Given the description of an element on the screen output the (x, y) to click on. 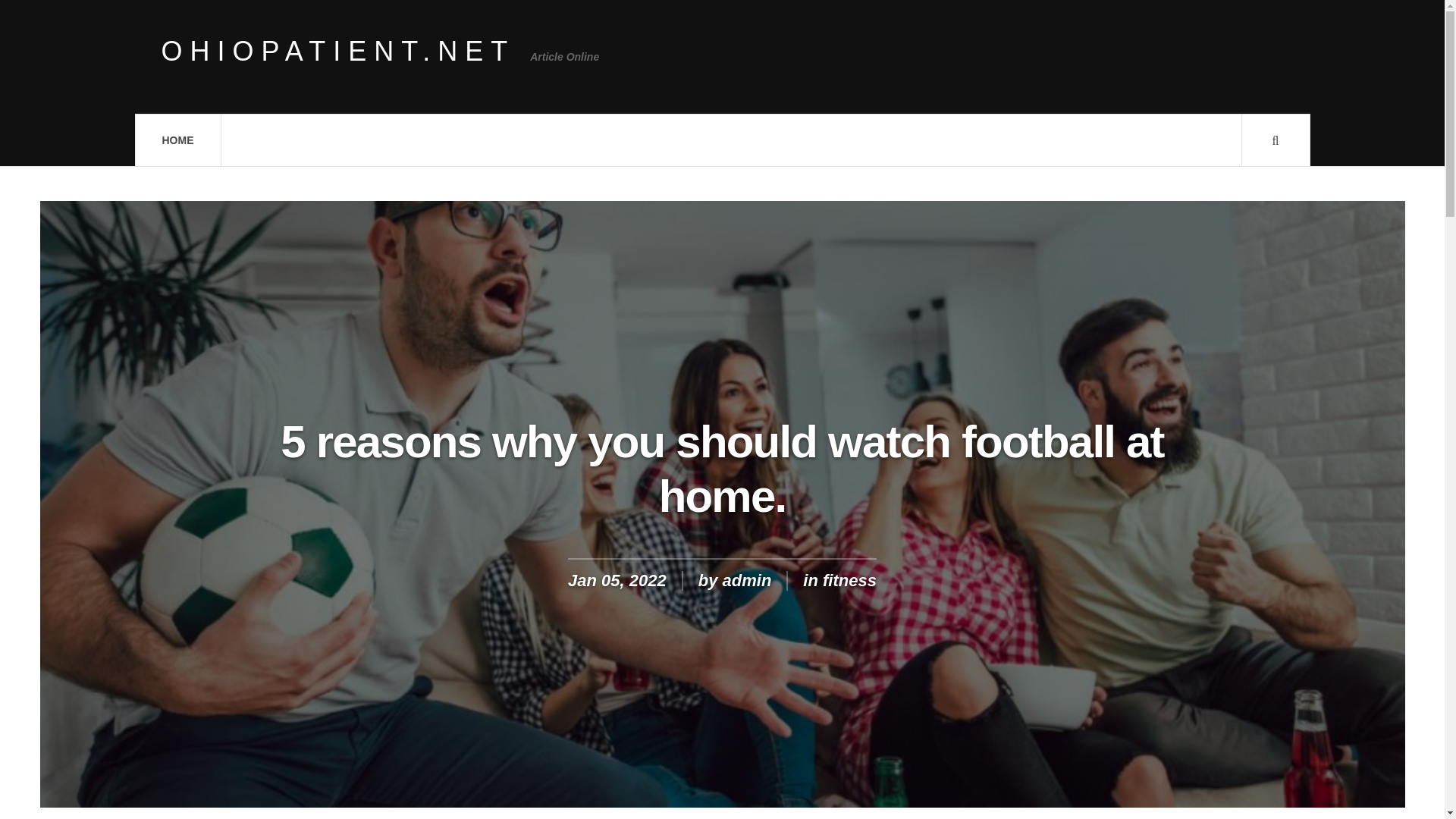
OHIOPATIENT.NET (337, 51)
fitness (849, 579)
HOME (178, 140)
ohiopatient.net (337, 51)
View all posts in fitness (849, 579)
admin (746, 579)
